Given the description of an element on the screen output the (x, y) to click on. 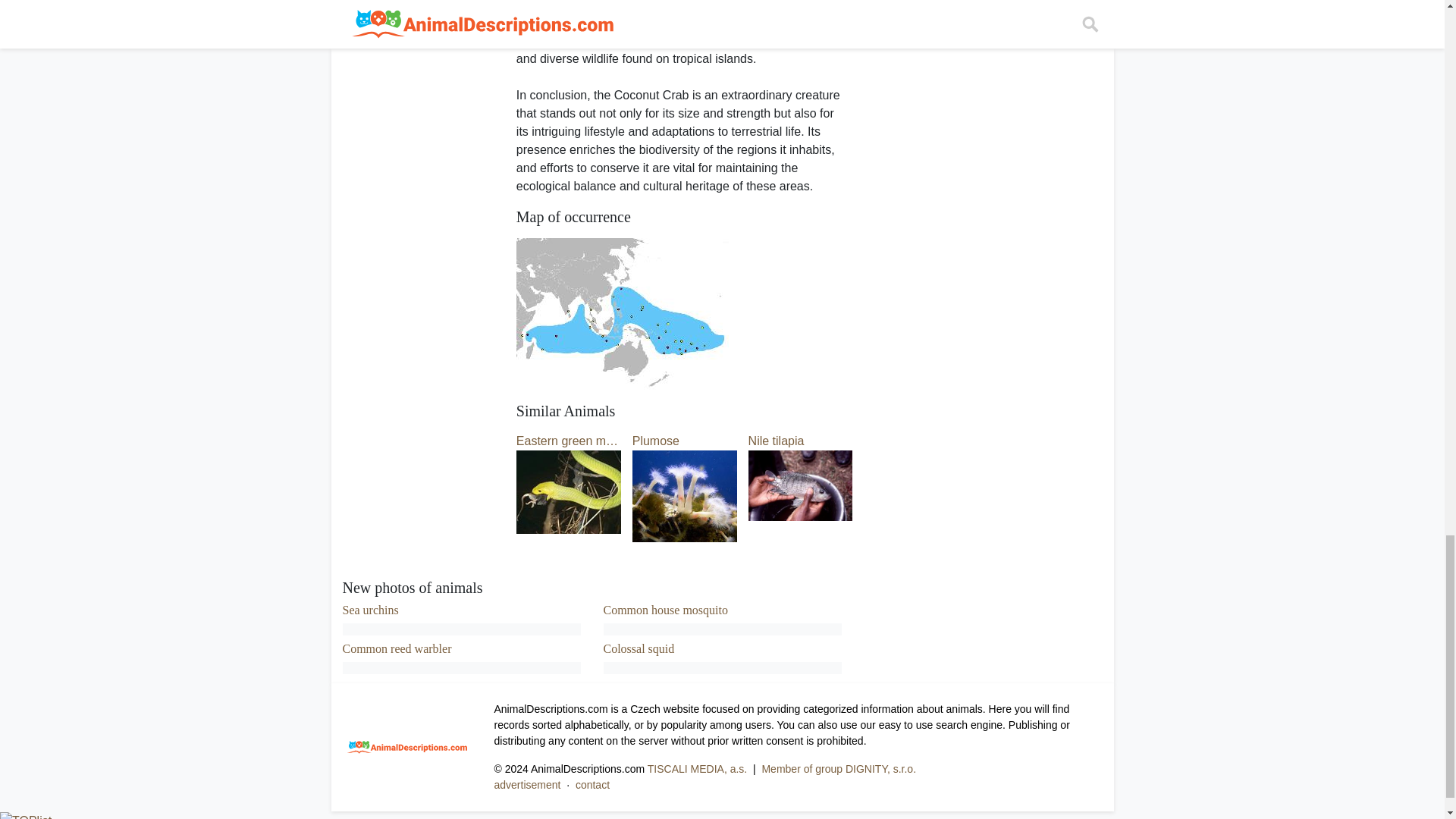
Nile tilapia (800, 461)
Sea urchins (370, 609)
Colossal squid (639, 648)
Common reed warbler (396, 648)
Common house mosquito (666, 609)
Eastern green mamba (568, 464)
Plumose (683, 466)
